Given the description of an element on the screen output the (x, y) to click on. 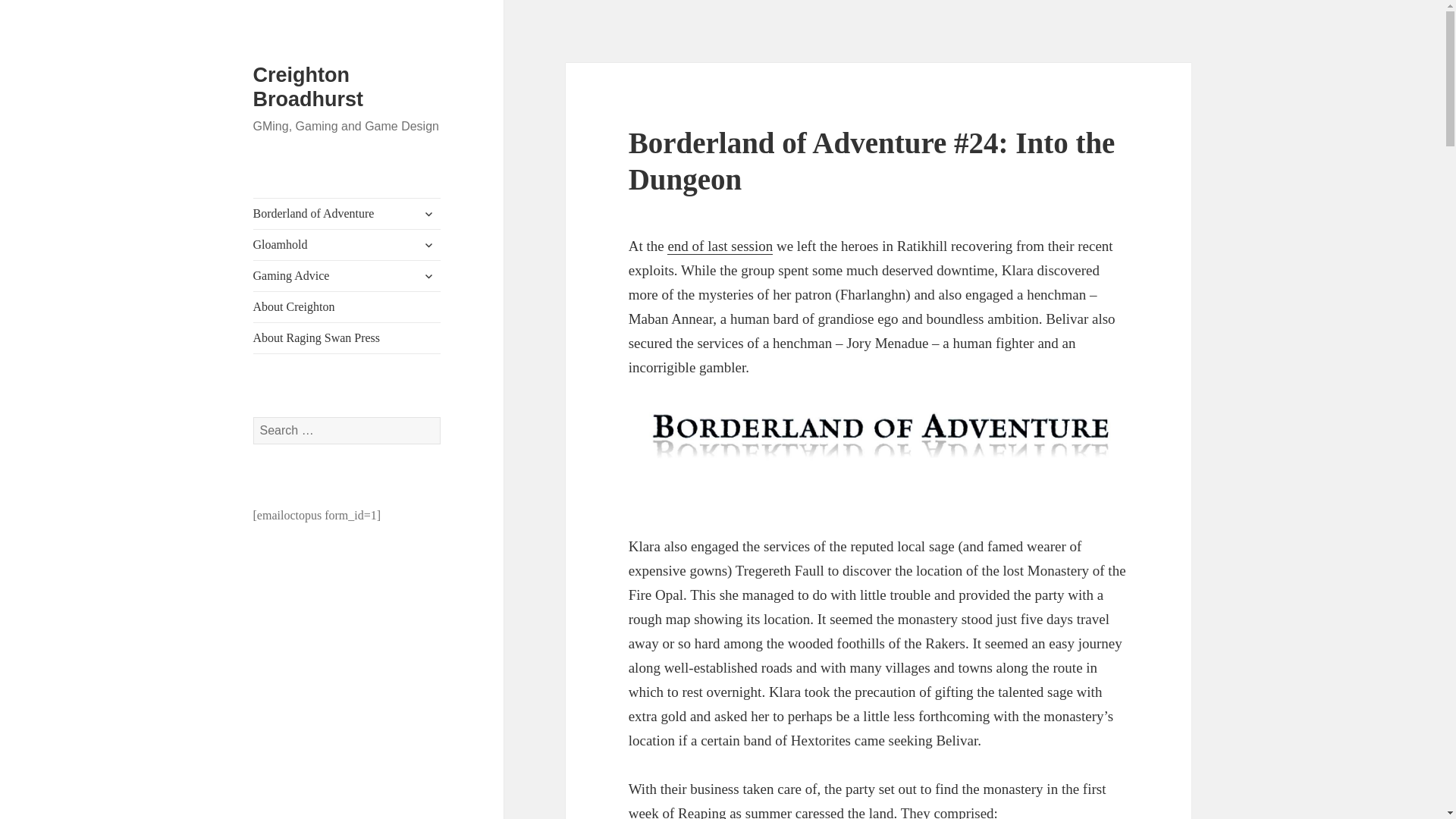
expand child menu (428, 213)
Creighton Broadhurst (308, 86)
expand child menu (428, 275)
expand child menu (428, 244)
Gloamhold (347, 245)
end of last session (719, 246)
About Creighton (347, 306)
Gaming Advice (347, 276)
About Raging Swan Press (347, 337)
Borderland of Adventure (347, 214)
